Given the description of an element on the screen output the (x, y) to click on. 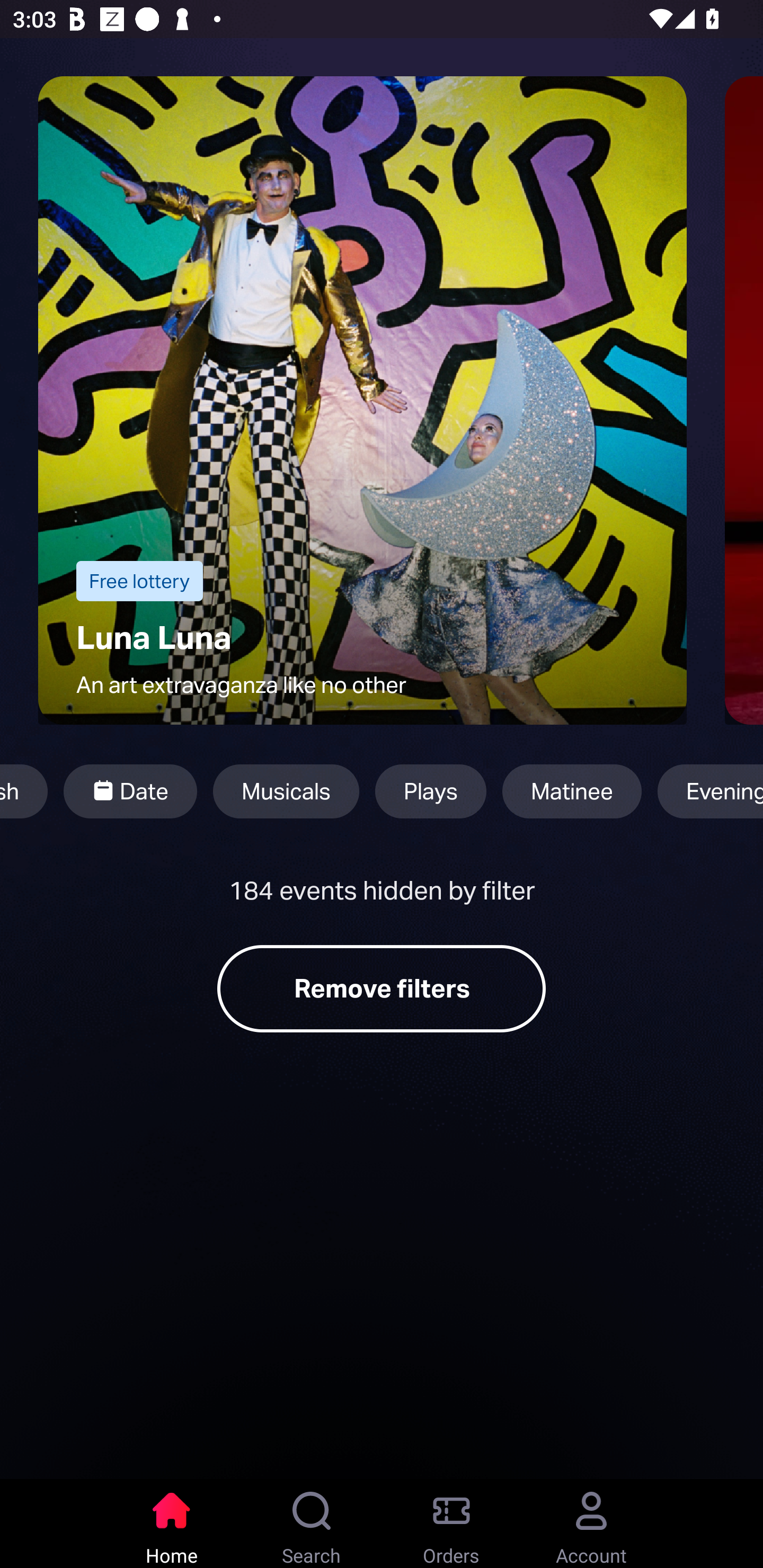
Date (129, 791)
Musicals (285, 791)
Plays (430, 791)
Matinee (571, 791)
Remove filters (381, 988)
Search (311, 1523)
Orders (451, 1523)
Account (591, 1523)
